Given the description of an element on the screen output the (x, y) to click on. 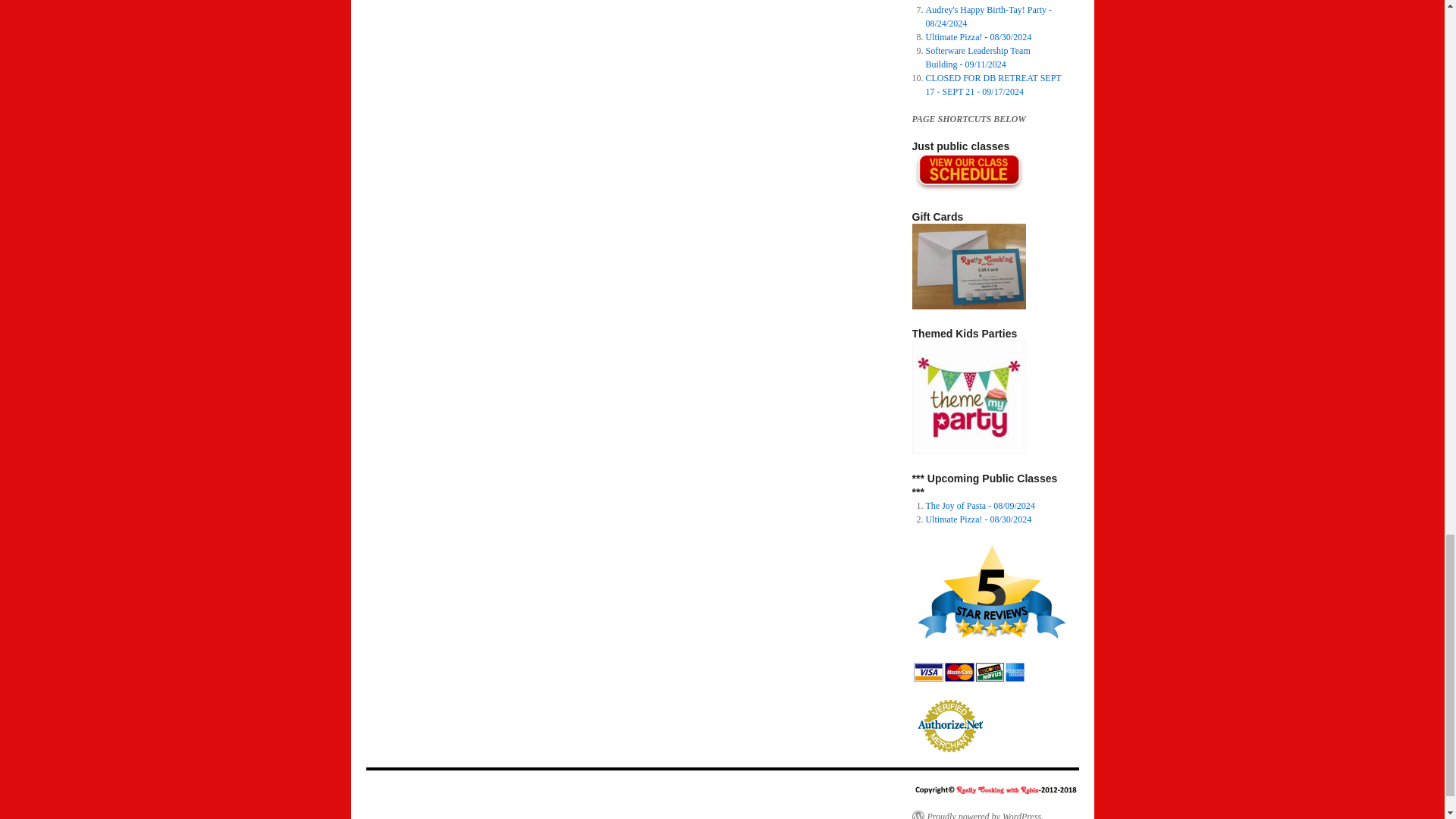
Themed Kids Parties (968, 397)
